Given the description of an element on the screen output the (x, y) to click on. 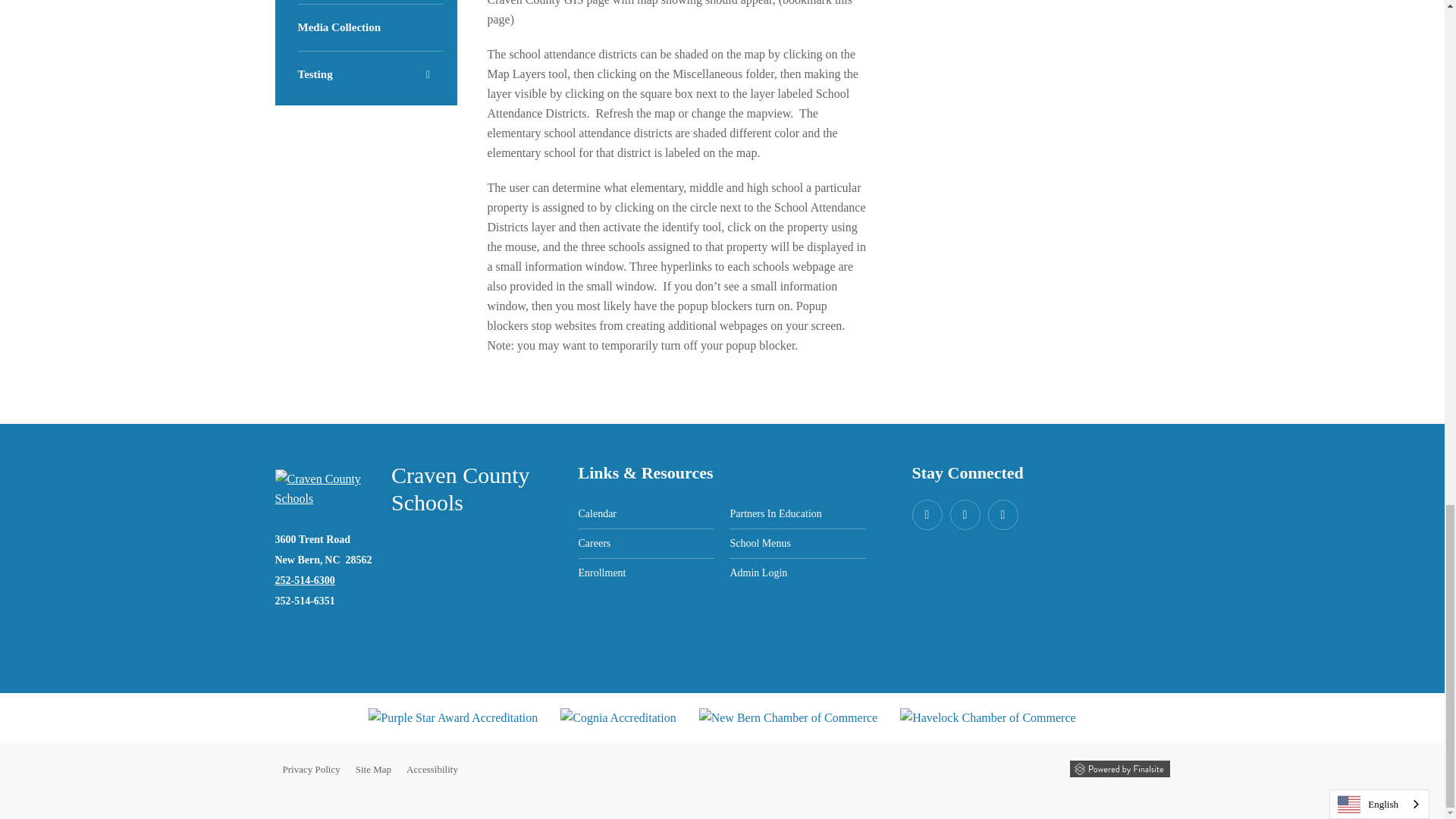
Powered by Finalsite opens in a new window (1118, 768)
